Given the description of an element on the screen output the (x, y) to click on. 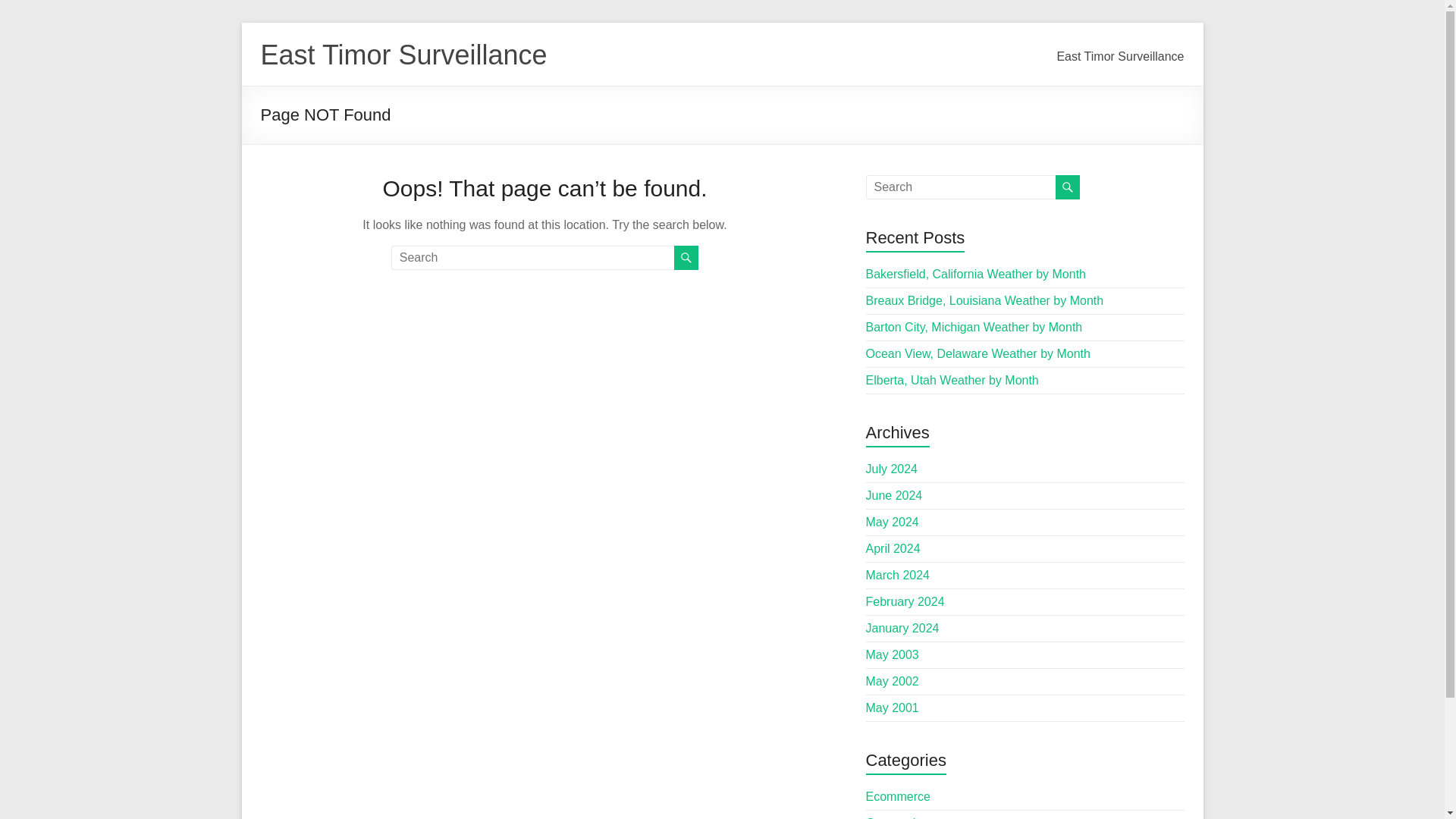
Elberta, Utah Weather by Month (952, 379)
May 2024 (892, 521)
Ecommerce (898, 796)
Barton City, Michigan Weather by Month (974, 327)
July 2024 (892, 468)
April 2024 (893, 548)
Ocean View, Delaware Weather by Month (978, 353)
May 2001 (892, 707)
Geography (896, 817)
March 2024 (898, 574)
May 2003 (892, 654)
January 2024 (902, 627)
June 2024 (894, 495)
East Timor Surveillance (1120, 60)
February 2024 (905, 601)
